Given the description of an element on the screen output the (x, y) to click on. 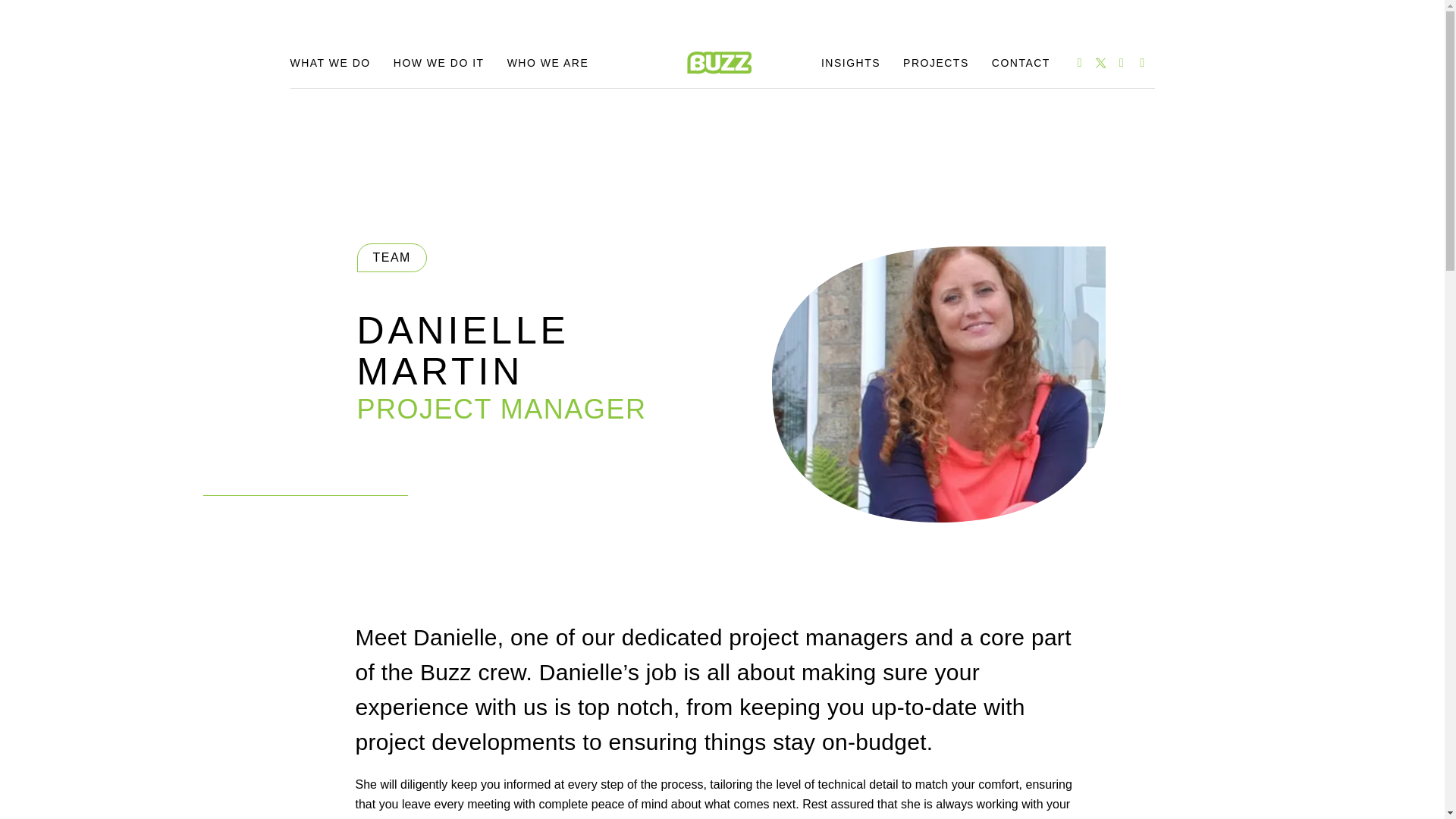
WHO WE ARE (547, 62)
CONTACT (1020, 62)
HOW WE DO IT (438, 62)
WHAT WE DO (329, 62)
PROJECTS (935, 62)
INSIGHTS (850, 62)
